Given the description of an element on the screen output the (x, y) to click on. 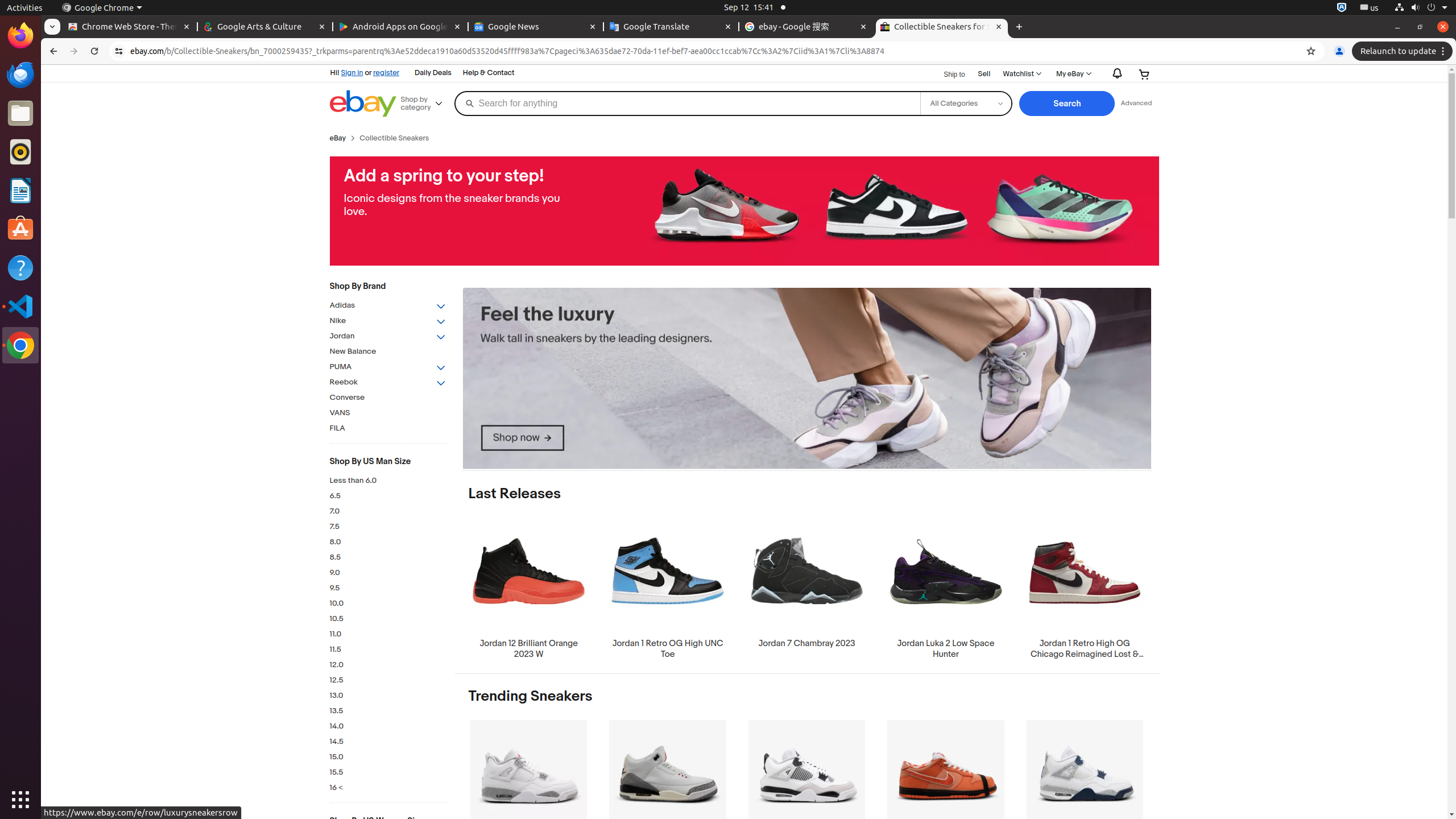
8.5 Element type: link (387, 557)
:1.21/StatusNotifierItem Element type: menu (1369, 7)
10.0 Element type: link (387, 603)
All Categories Element type: menu-item (965, 103)
Adidas Element type: push-button (387, 305)
